Given the description of an element on the screen output the (x, y) to click on. 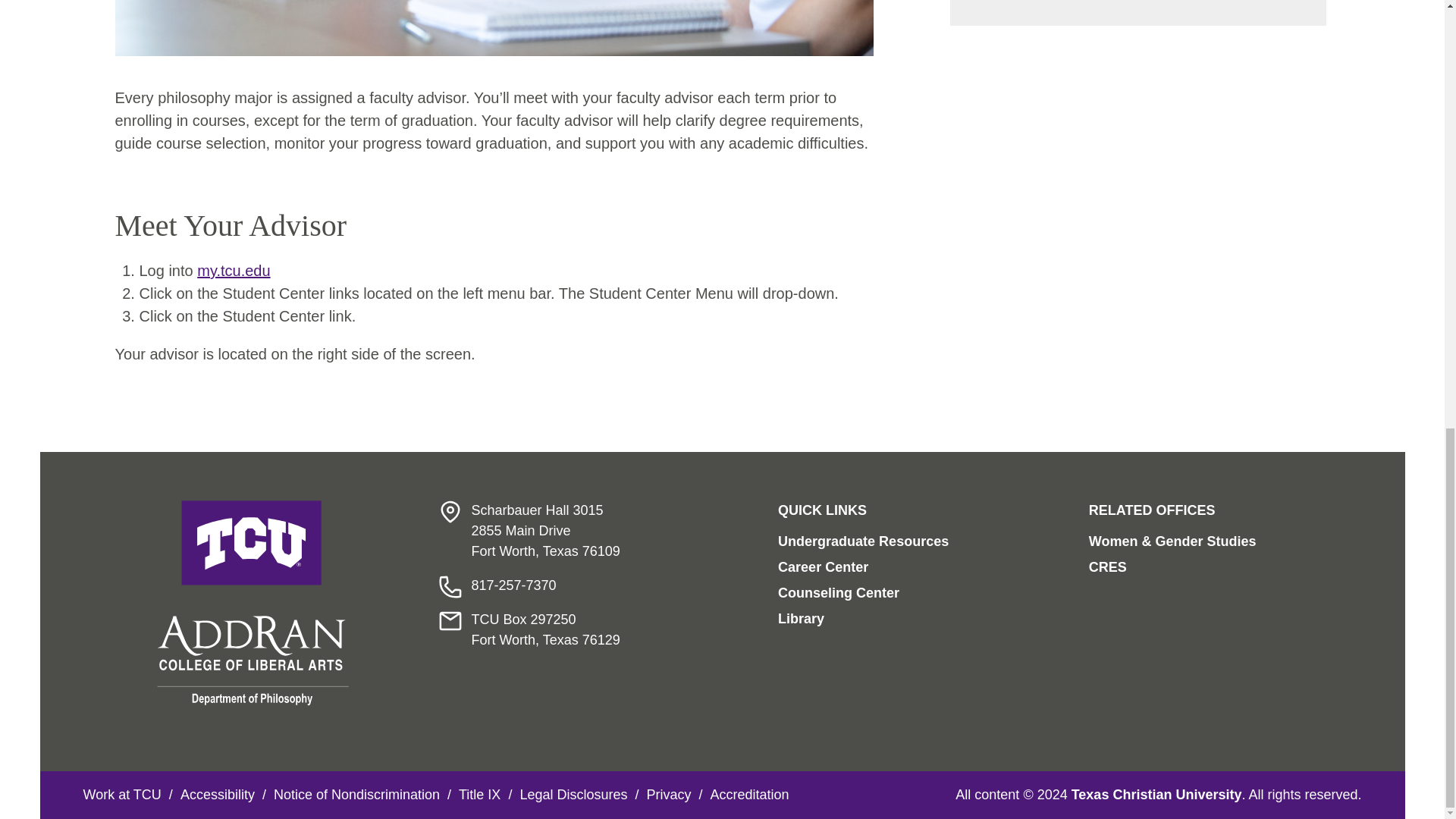
CRES (1107, 566)
Accessibility (217, 794)
Work at TCU (121, 794)
Notice of Nondiscrimination (356, 794)
Career Center (822, 566)
Undergraduate Resources (863, 540)
AddRan Department of Philosophy Homepage (253, 602)
Title IX (479, 794)
Counseling Center (838, 592)
Library (800, 618)
Legal Disclosures (573, 794)
my.tcu.edu (232, 270)
